Given the description of an element on the screen output the (x, y) to click on. 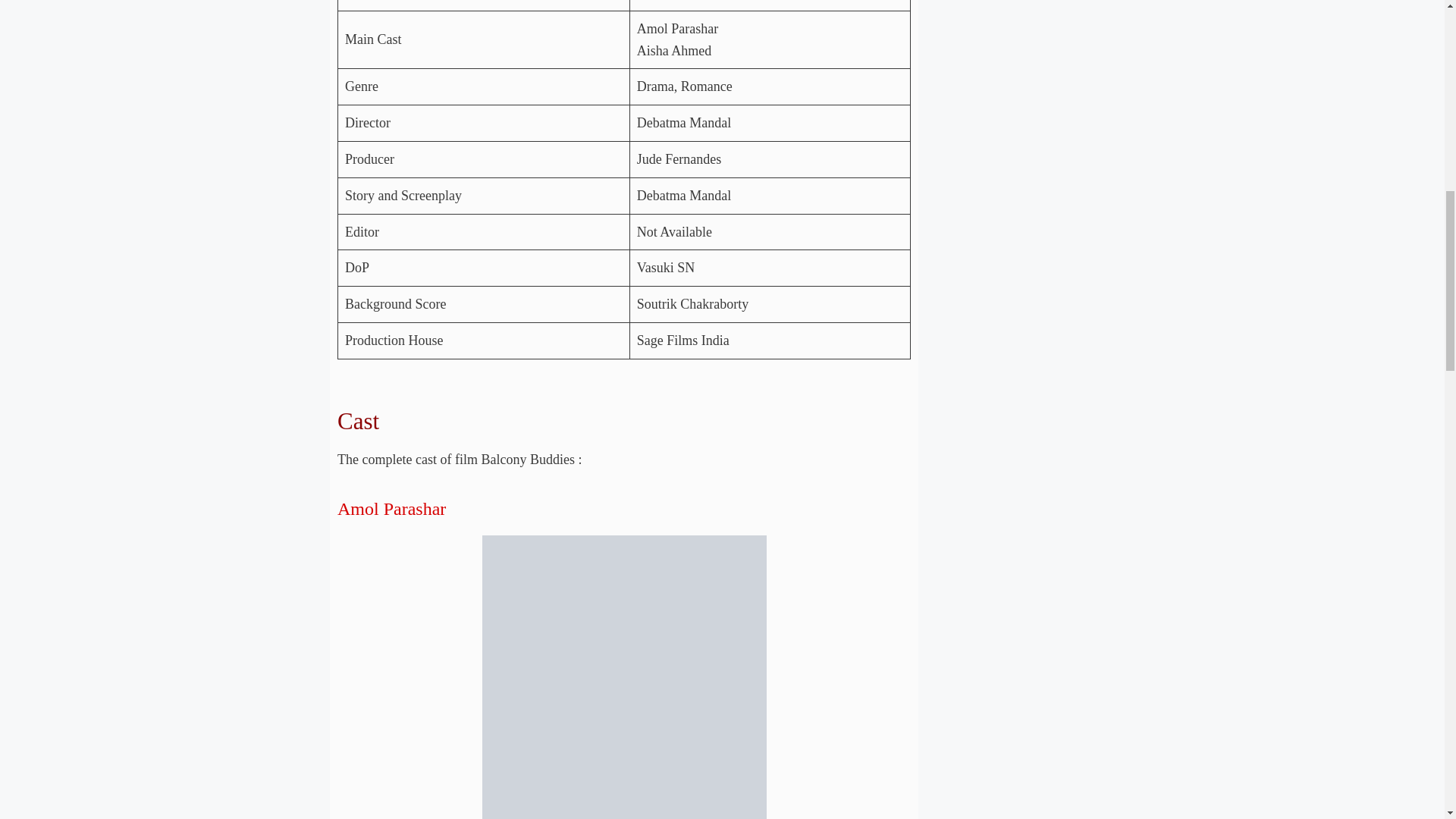
Amol Parashar (391, 508)
